Given the description of an element on the screen output the (x, y) to click on. 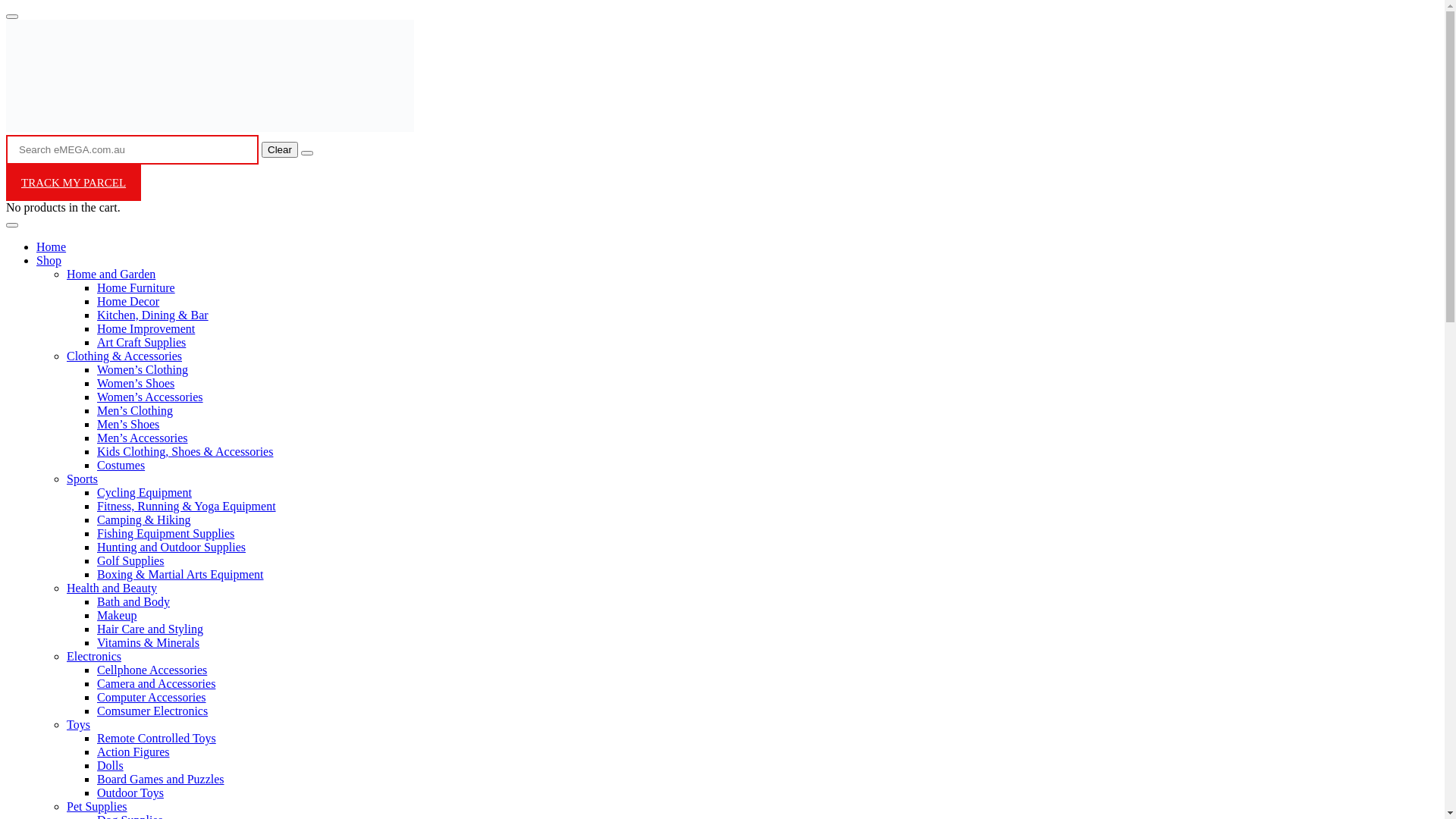
Fishing Equipment Supplies Element type: text (165, 533)
Home Element type: text (50, 246)
Sports Element type: text (81, 478)
Bath and Body Element type: text (133, 601)
Makeup Element type: text (116, 614)
Boxing & Martial Arts Equipment Element type: text (180, 573)
Health and Beauty Element type: text (111, 587)
Clothing & Accessories Element type: text (124, 355)
Remote Controlled Toys Element type: text (156, 737)
Home Improvement Element type: text (145, 328)
Kids Clothing, Shoes & Accessories Element type: text (185, 451)
Costumes Element type: text (120, 464)
Dolls Element type: text (110, 765)
Art Craft Supplies Element type: text (141, 341)
Comsumer Electronics Element type: text (152, 710)
Cellphone Accessories Element type: text (152, 669)
Home and Garden Element type: text (110, 273)
Hunting and Outdoor Supplies Element type: text (171, 546)
Toys Element type: text (78, 724)
Board Games and Puzzles Element type: text (160, 778)
Pet Supplies Element type: text (96, 806)
TRACK MY PARCEL Element type: text (73, 182)
Camping & Hiking Element type: text (144, 519)
Home Furniture Element type: text (136, 287)
Clear Element type: text (279, 149)
Cycling Equipment Element type: text (144, 492)
Home Decor Element type: text (128, 300)
Golf Supplies Element type: text (130, 560)
Electronics Element type: text (93, 655)
Kitchen, Dining & Bar Element type: text (152, 314)
Shop Element type: text (48, 260)
Computer Accessories Element type: text (151, 696)
Fitness, Running & Yoga Equipment Element type: text (186, 505)
Action Figures Element type: text (133, 751)
Vitamins & Minerals Element type: text (148, 642)
Outdoor Toys Element type: text (130, 792)
Hair Care and Styling Element type: text (150, 628)
Camera and Accessories Element type: text (156, 683)
